Given the description of an element on the screen output the (x, y) to click on. 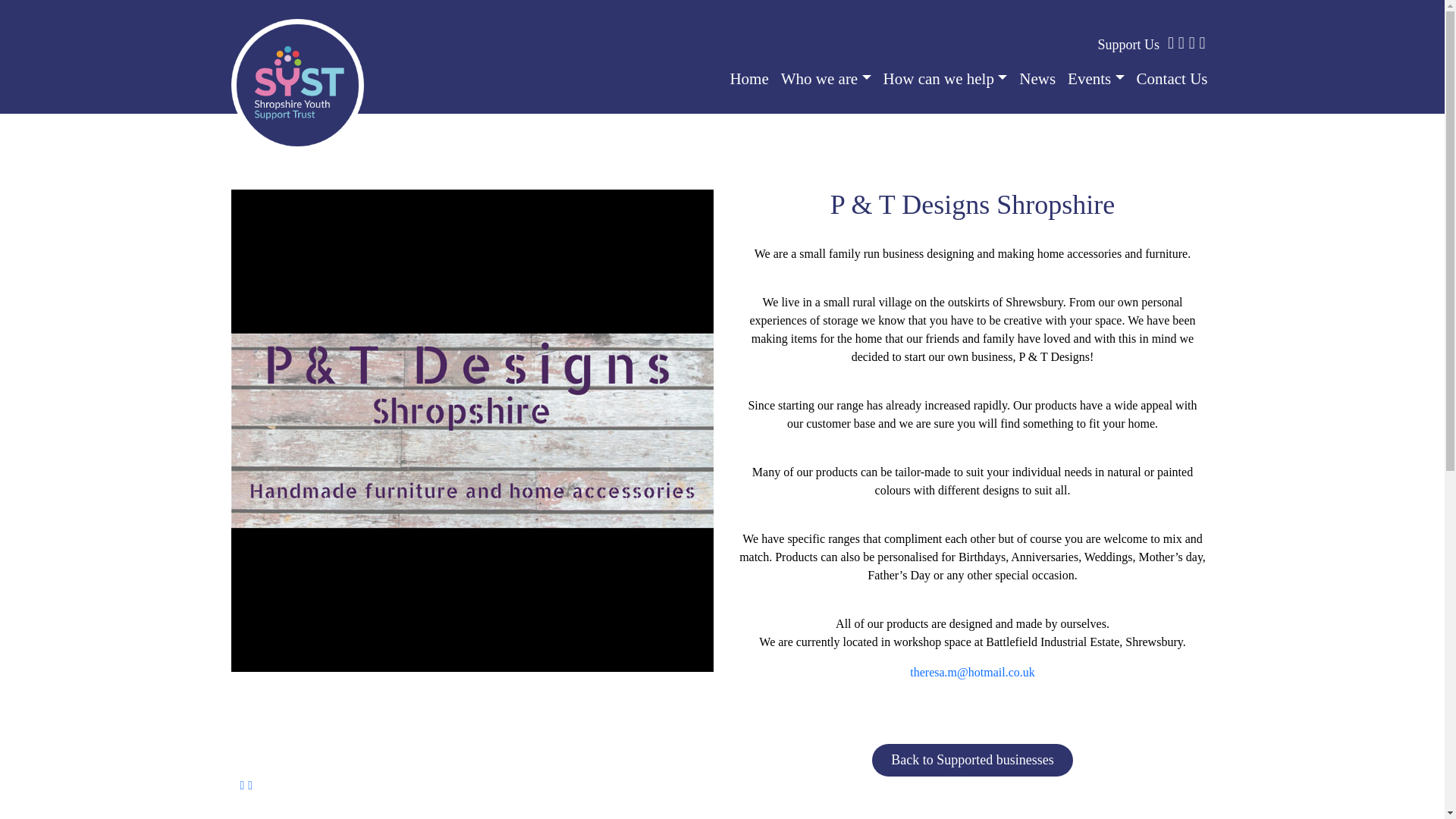
Events (1096, 79)
How can we help (945, 79)
Home (748, 79)
Who we are (825, 79)
Contact Us (1169, 79)
Support Us (1127, 44)
News (1037, 79)
